Given the description of an element on the screen output the (x, y) to click on. 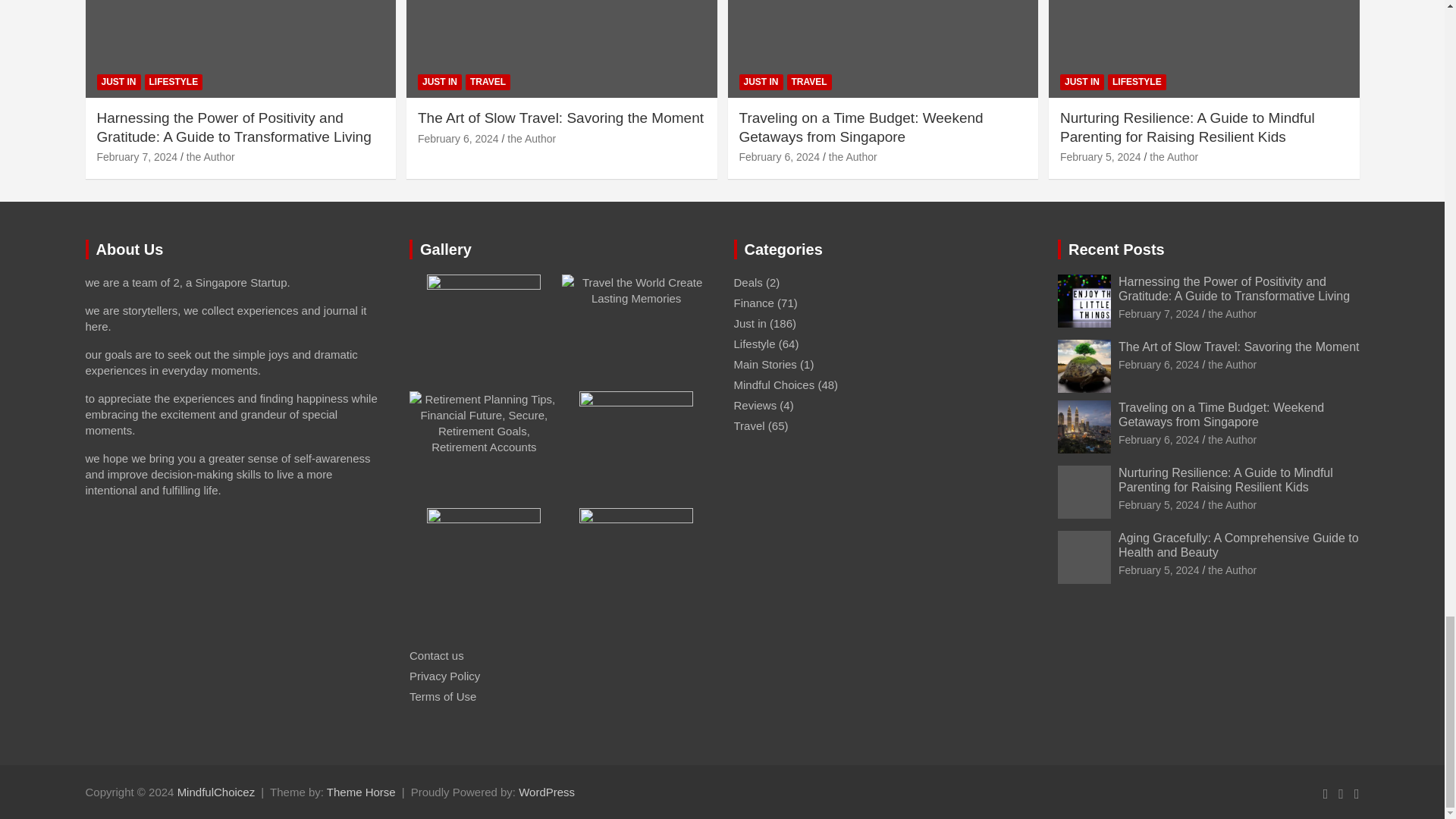
The Art of Slow Travel: Savoring the Moment (1158, 364)
Traveling on a Time Budget: Weekend Getaways from Singapore (778, 156)
Traveling on a Time Budget: Weekend Getaways from Singapore (1158, 439)
The Art of Slow Travel: Savoring the Moment (458, 138)
